Given the description of an element on the screen output the (x, y) to click on. 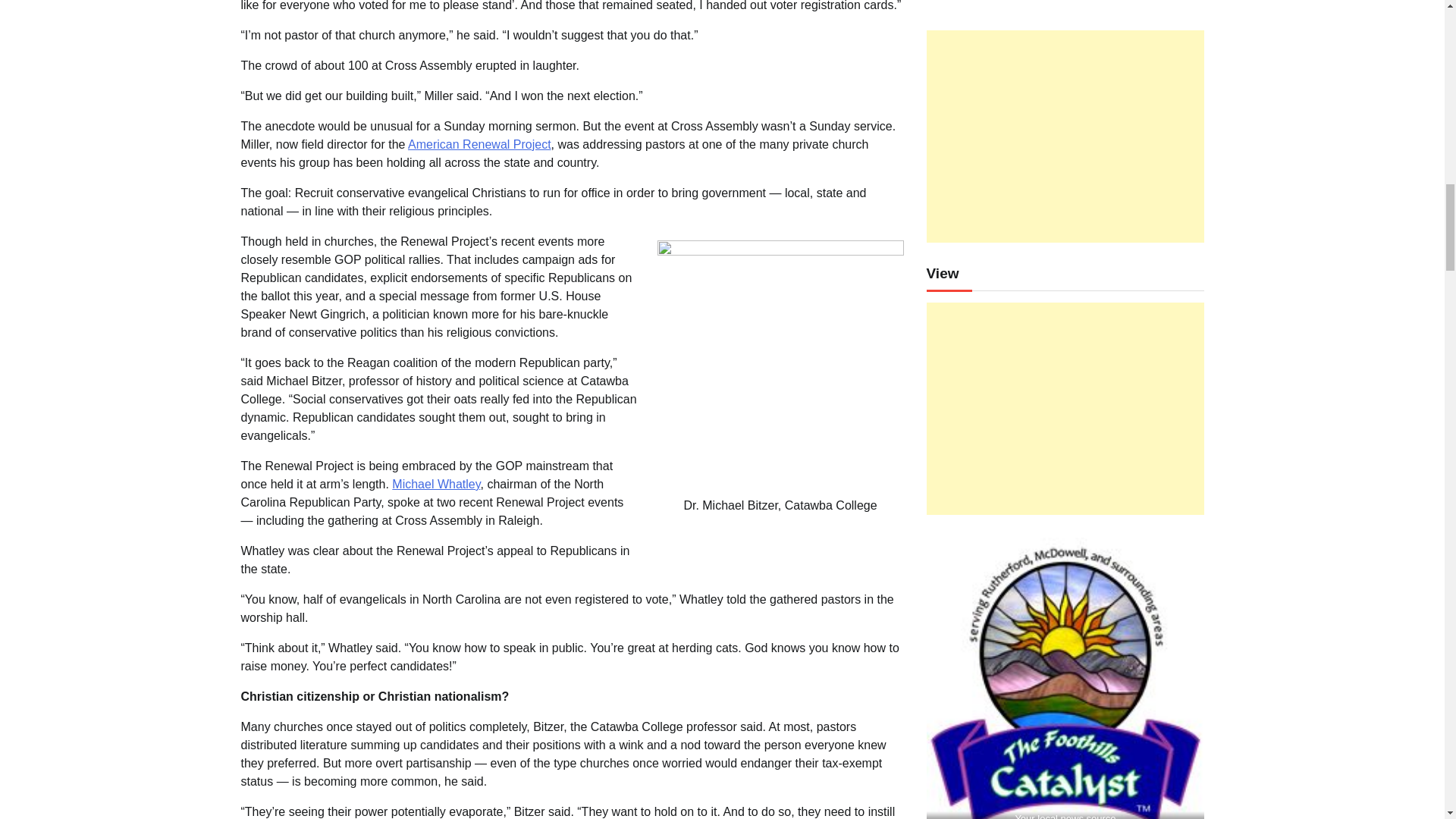
Michael Whatley (435, 483)
American Renewal Project (479, 144)
